Given the description of an element on the screen output the (x, y) to click on. 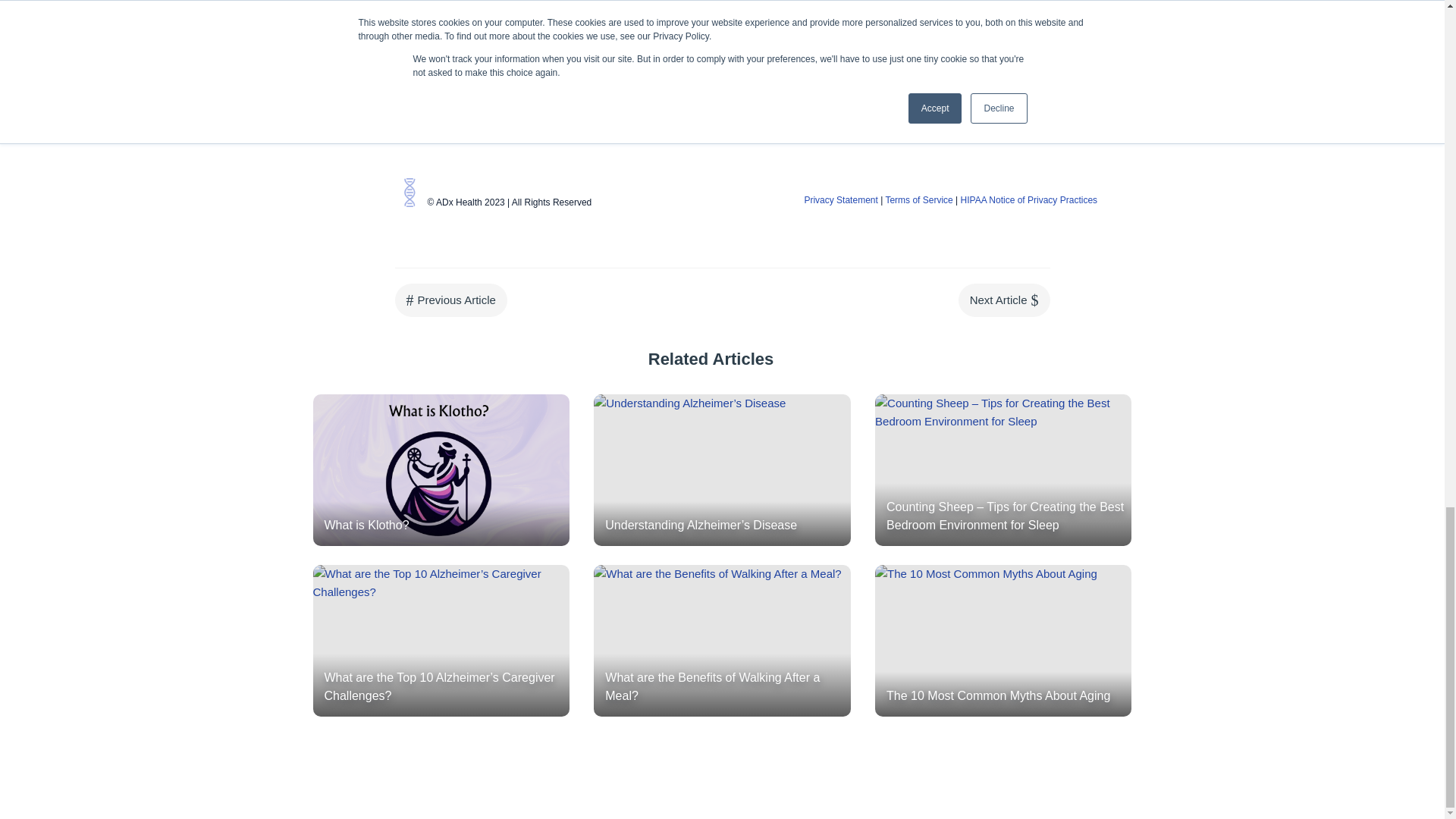
Follow on Facebook (681, 115)
Follow on TikTok (773, 115)
What is Klotho? (441, 469)
What are the Benefits of Walking After a Meal? (722, 640)
Follow on LinkedIn (712, 115)
The 10 Most Common Myths About Aging (1003, 640)
Follow on Instagram (742, 115)
